Given the description of an element on the screen output the (x, y) to click on. 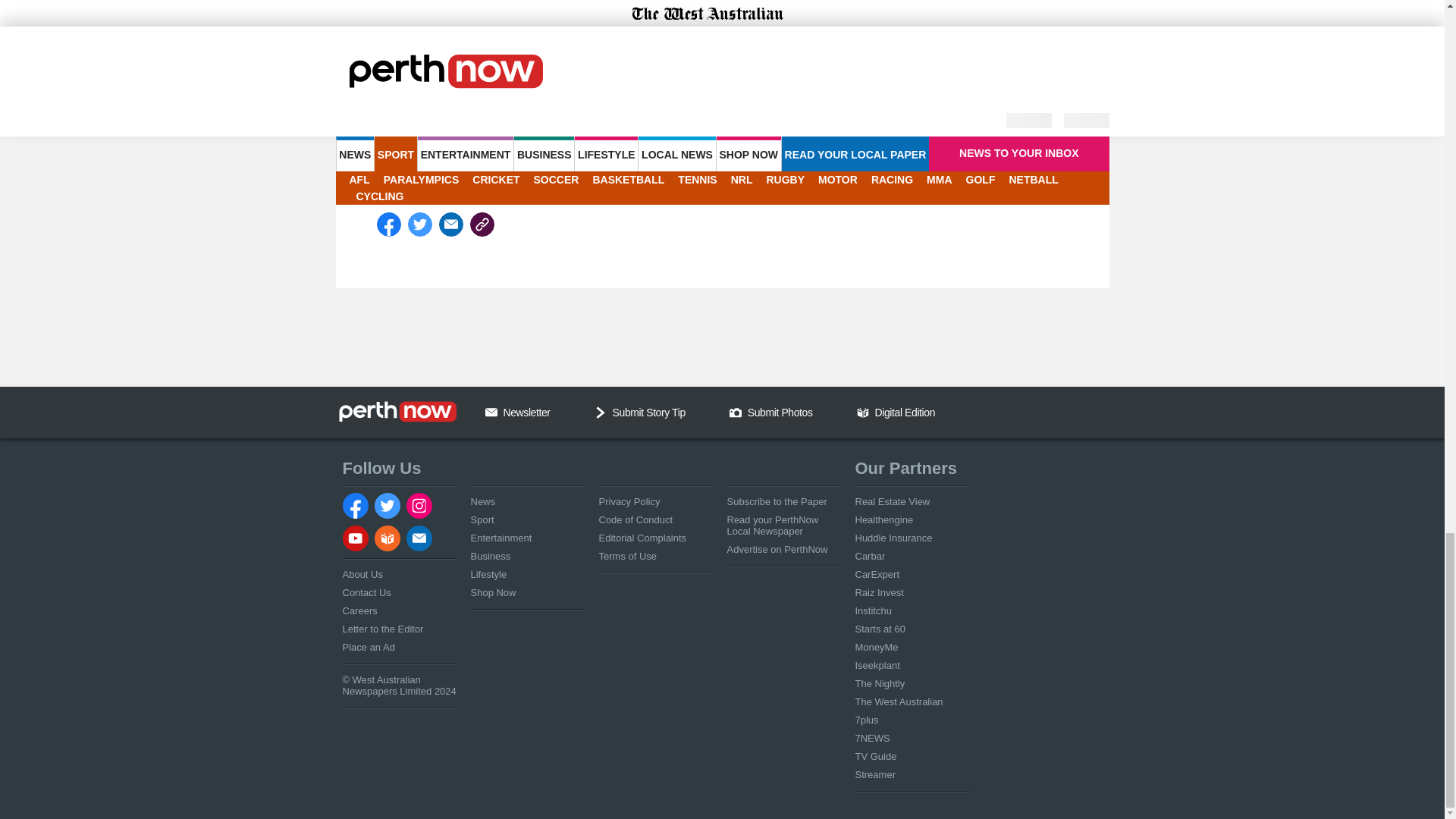
Chevron Down Icon (600, 412)
Email Us (490, 412)
Camera Icon (735, 412)
